Given the description of an element on the screen output the (x, y) to click on. 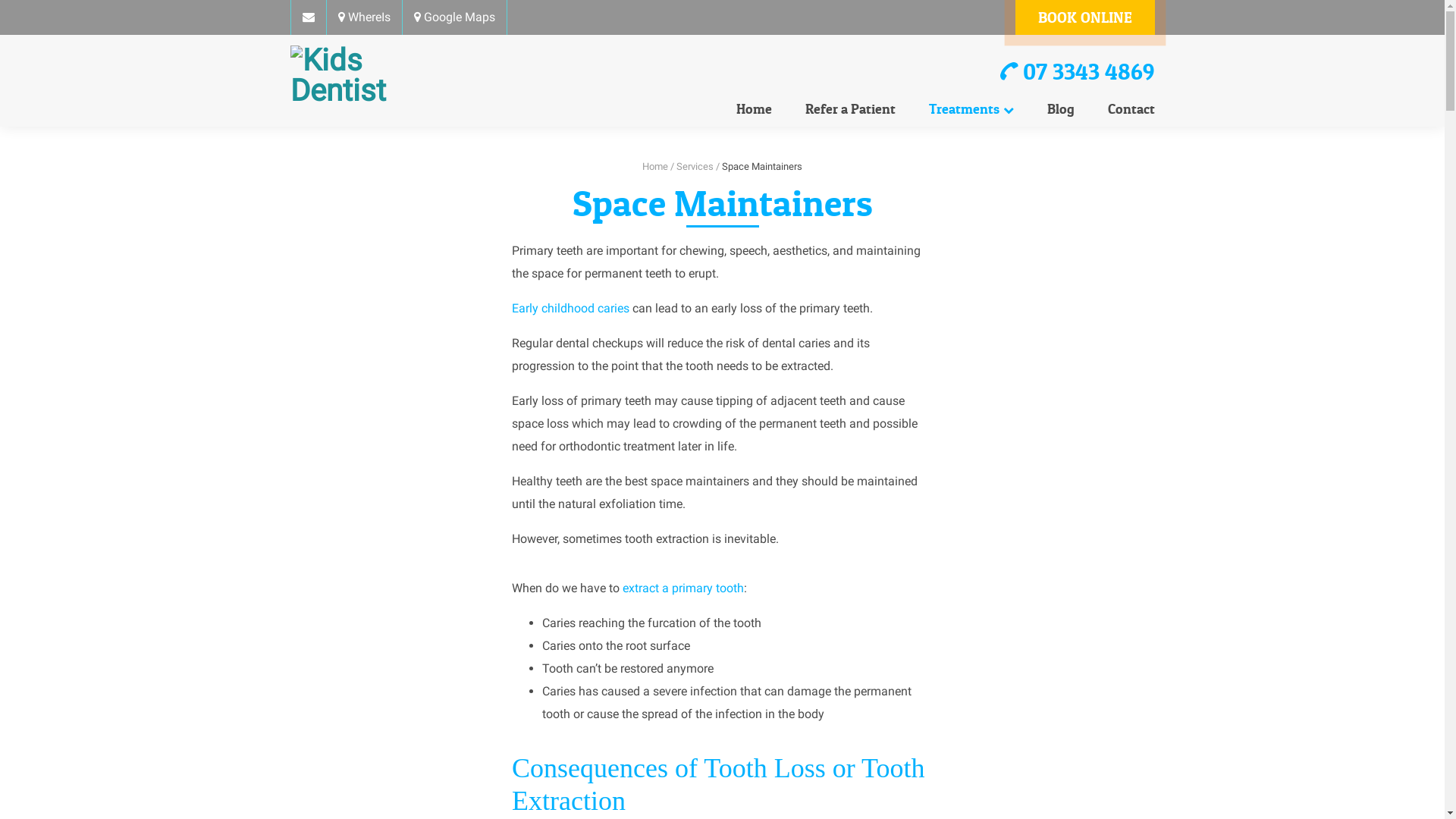
Blog Element type: text (1059, 109)
Home Element type: text (753, 109)
Services Element type: text (694, 166)
BOOK ONLINE Element type: text (1084, 17)
Refer a Patient Element type: text (850, 109)
Space Maintainers Element type: text (761, 166)
WhereIs Element type: text (363, 17)
Home Element type: text (655, 166)
Early childhood caries Element type: text (570, 308)
Contact Element type: text (1123, 109)
Google Maps Element type: text (453, 17)
Kids Dentist Element type: hover (368, 75)
extract a primary tooth Element type: text (682, 587)
Treatments Element type: text (970, 109)
07 3343 4869 Element type: text (1076, 71)
